Given the description of an element on the screen output the (x, y) to click on. 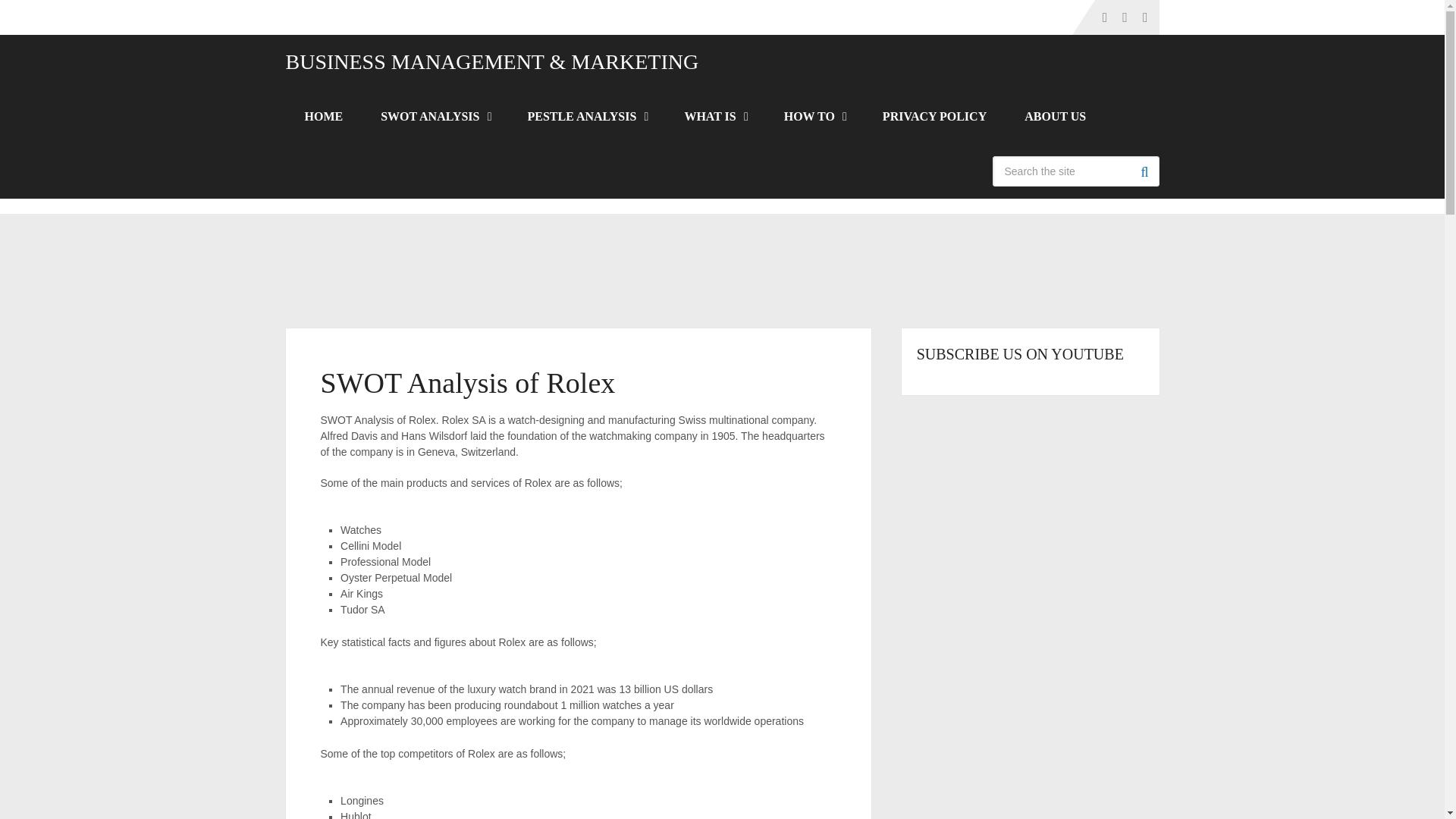
Search (1143, 171)
HOW TO (814, 116)
WHAT IS (714, 116)
PRIVACY POLICY (934, 116)
HOME (323, 116)
PESTLE ANALYSIS (586, 116)
ABOUT US (1055, 116)
SWOT ANALYSIS (434, 116)
